Given the description of an element on the screen output the (x, y) to click on. 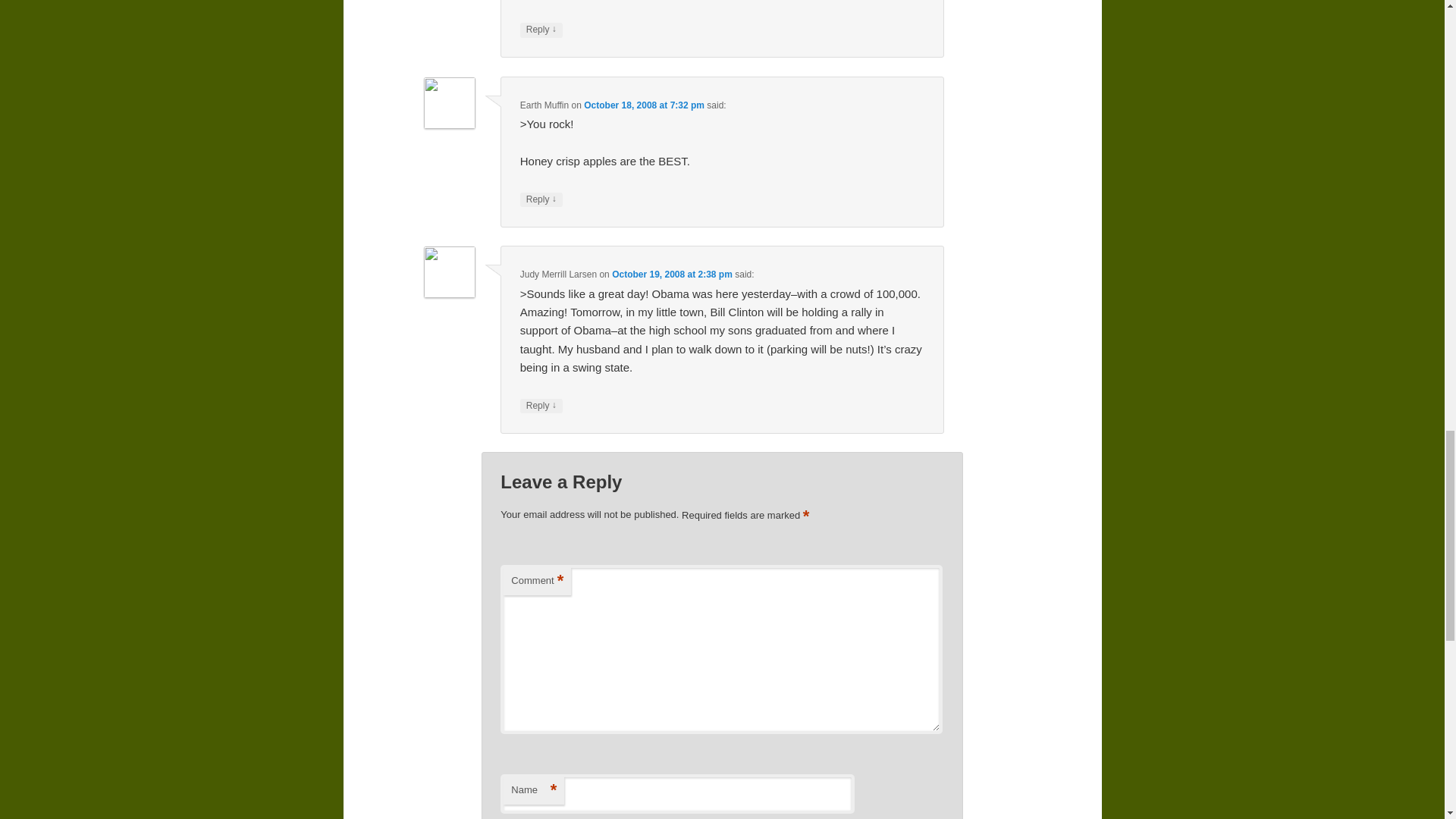
October 18, 2008 at 7:32 pm (643, 104)
October 19, 2008 at 2:38 pm (671, 274)
